Given the description of an element on the screen output the (x, y) to click on. 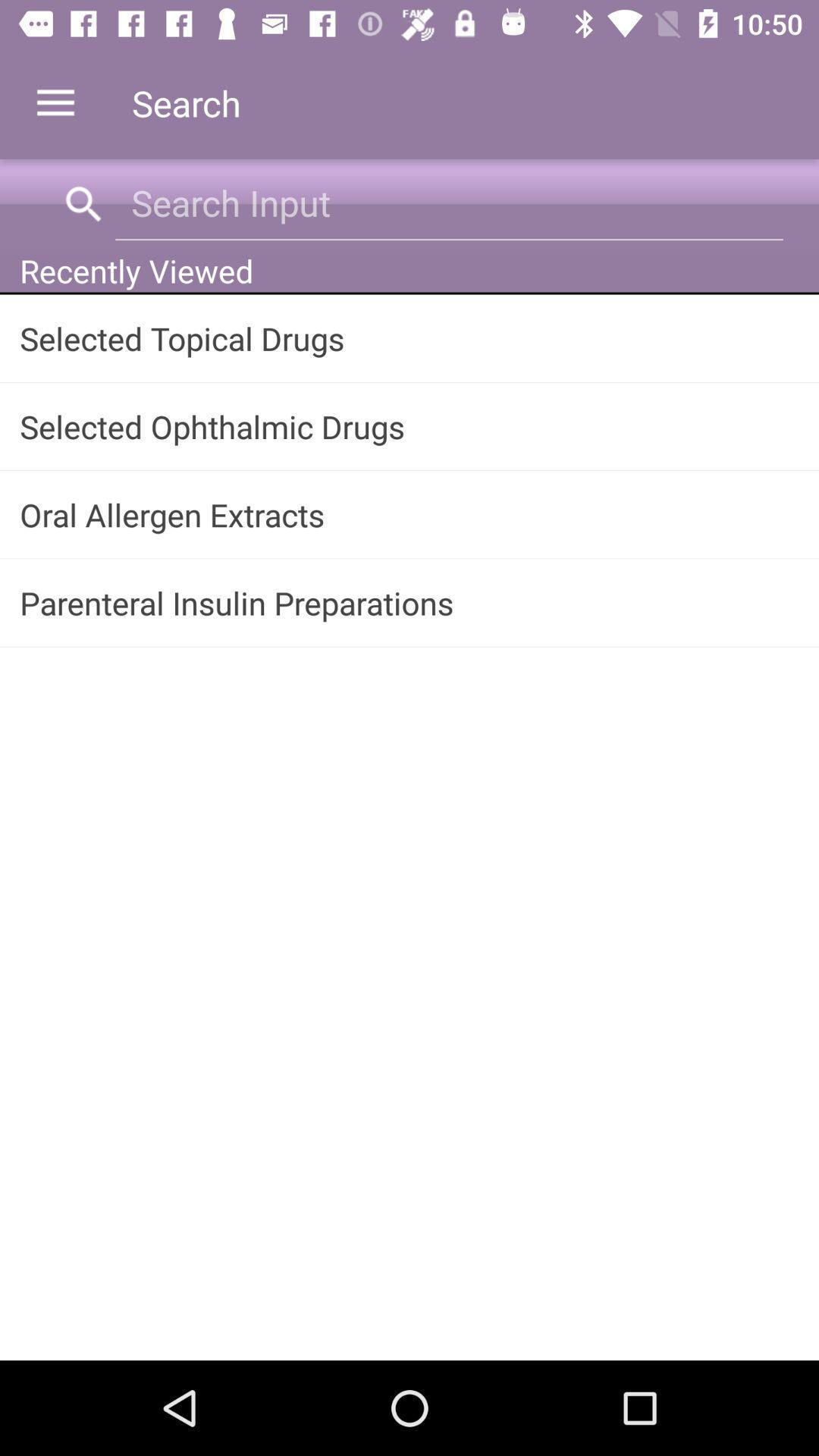
enter the keyword (449, 202)
